Given the description of an element on the screen output the (x, y) to click on. 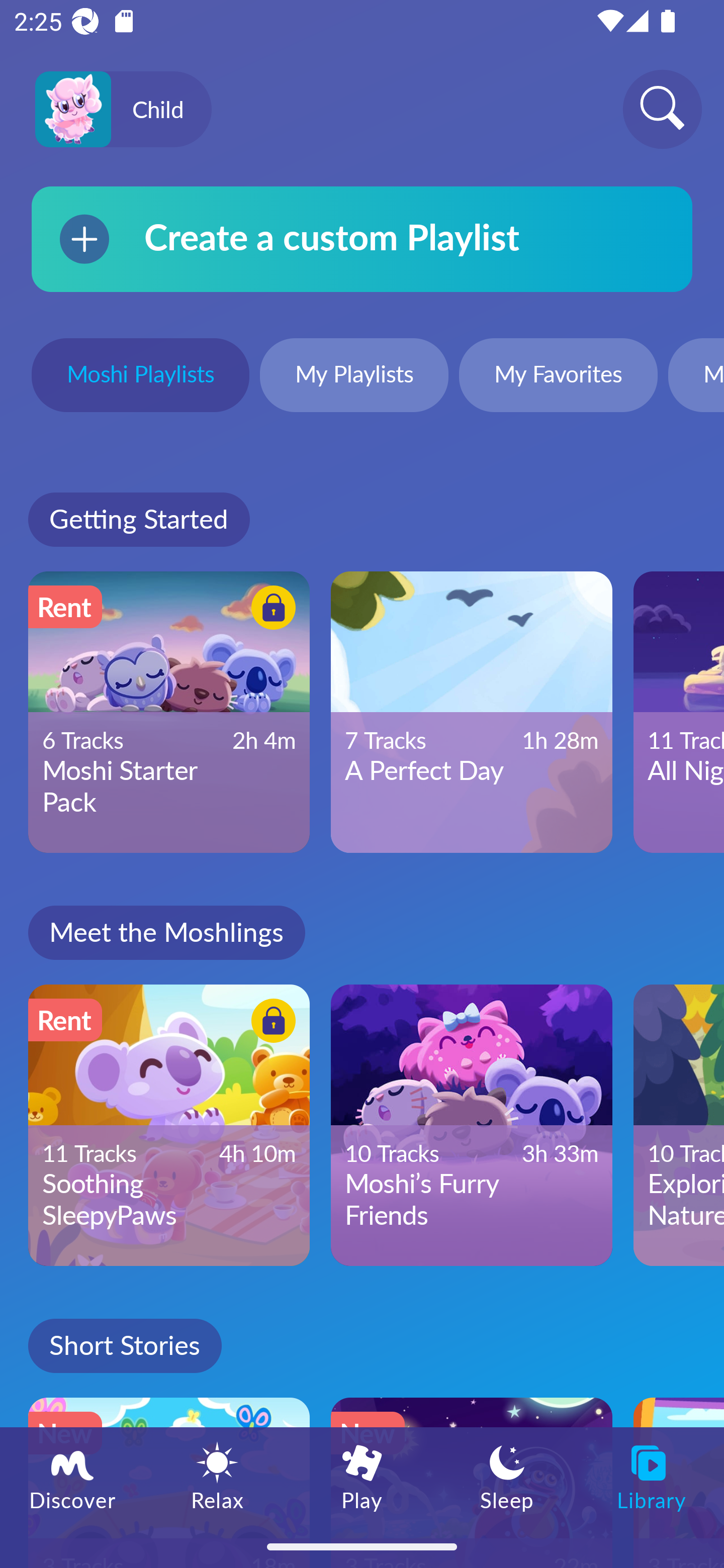
Profile icon Child (123, 109)
Create a custom Playlist (361, 238)
Moshi Playlists (140, 377)
My Playlists (353, 377)
My Favorites (558, 377)
Button (269, 609)
Featured Content 7 Tracks A Perfect Day 1h 28m (471, 711)
Button (269, 1023)
Discover (72, 1475)
Relax (216, 1475)
Play (361, 1475)
Sleep (506, 1475)
